Given the description of an element on the screen output the (x, y) to click on. 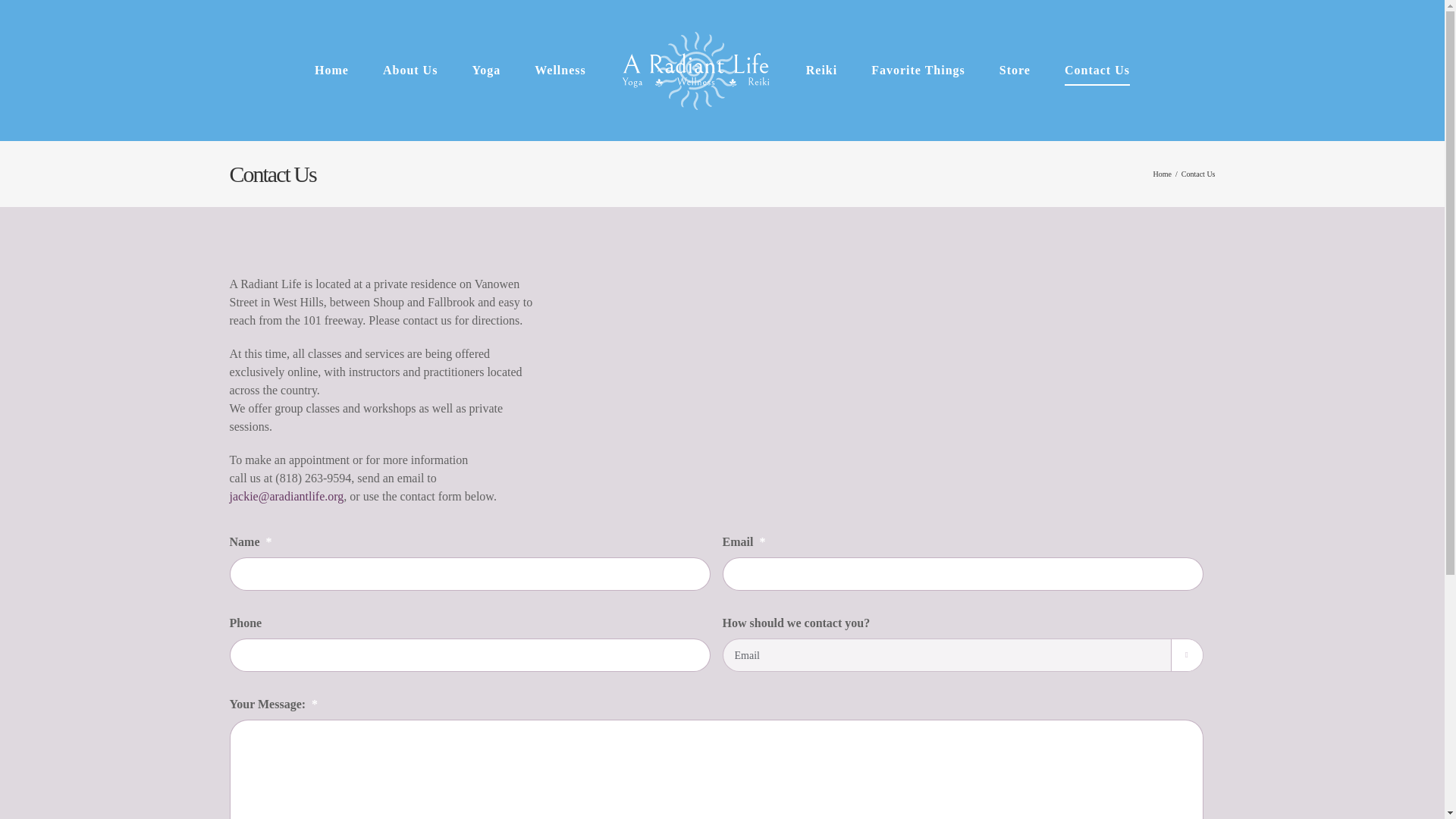
Contact Us (1096, 70)
Home (1162, 173)
Favorite Things (917, 70)
